Given the description of an element on the screen output the (x, y) to click on. 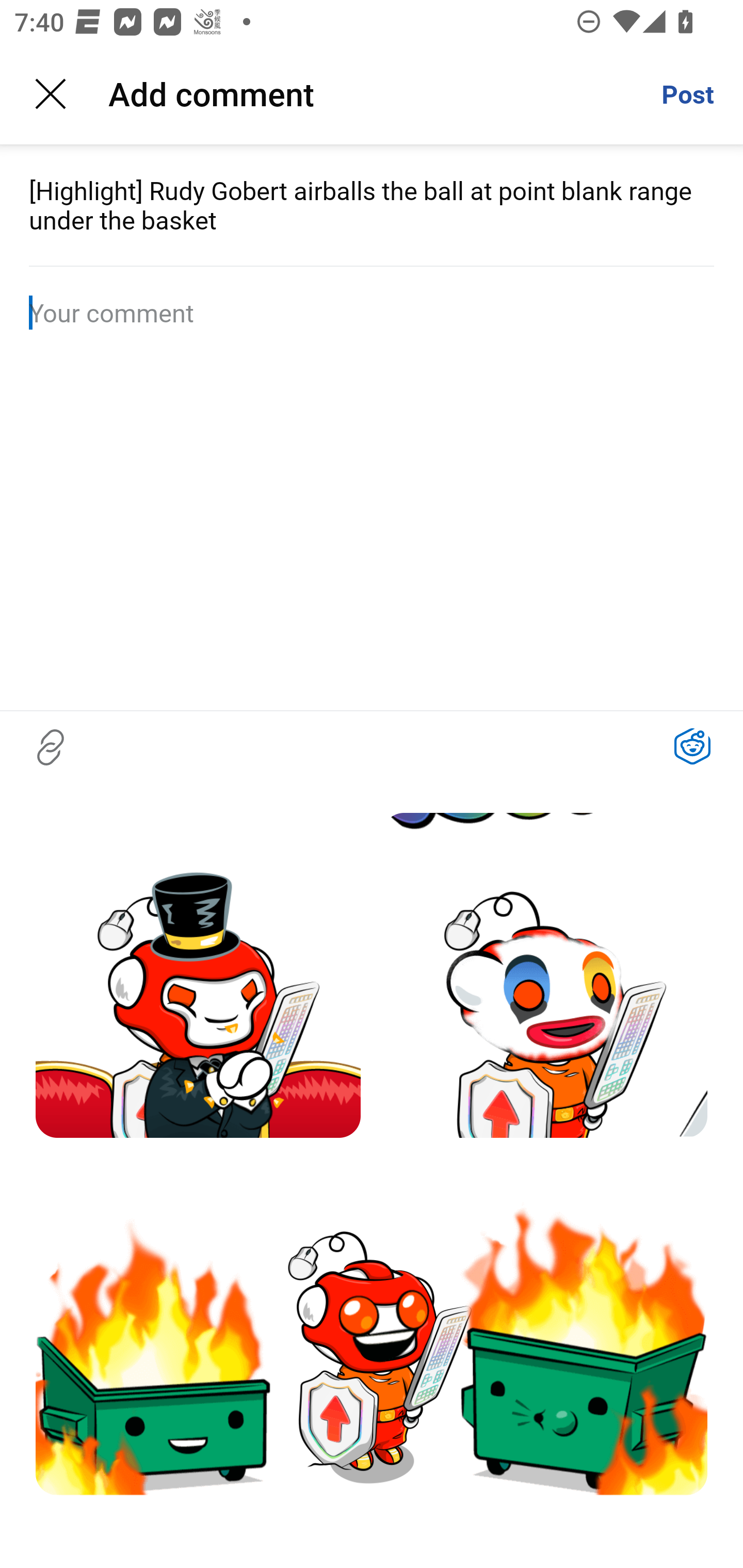
Close (50, 93)
Post (687, 94)
Your comment (371, 312)
Insert a link (50, 746)
Show Expressions (692, 746)
bravo expression (197, 975)
clown expression (544, 975)
fire expression (371, 1326)
